Given the description of an element on the screen output the (x, y) to click on. 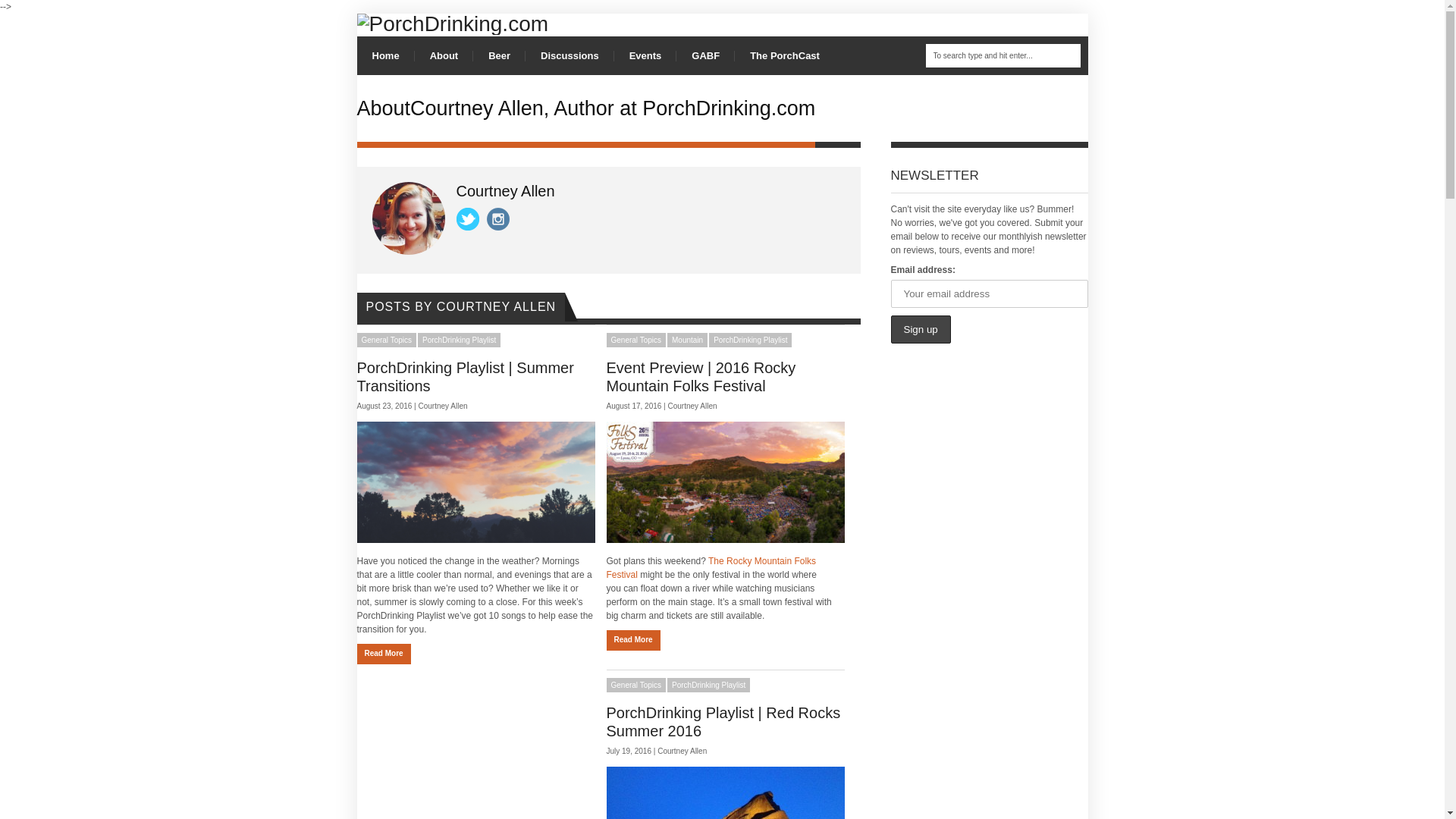
Events (645, 55)
About (444, 55)
Discussions (569, 55)
Posts by Courtney Allen (691, 406)
The PorchCast (784, 55)
To search type and hit enter... (1002, 55)
Posts by Courtney Allen (443, 406)
Sign up (919, 329)
GABF (706, 55)
Home (384, 55)
Posts by Courtney Allen (682, 750)
Beer (499, 55)
